Given the description of an element on the screen output the (x, y) to click on. 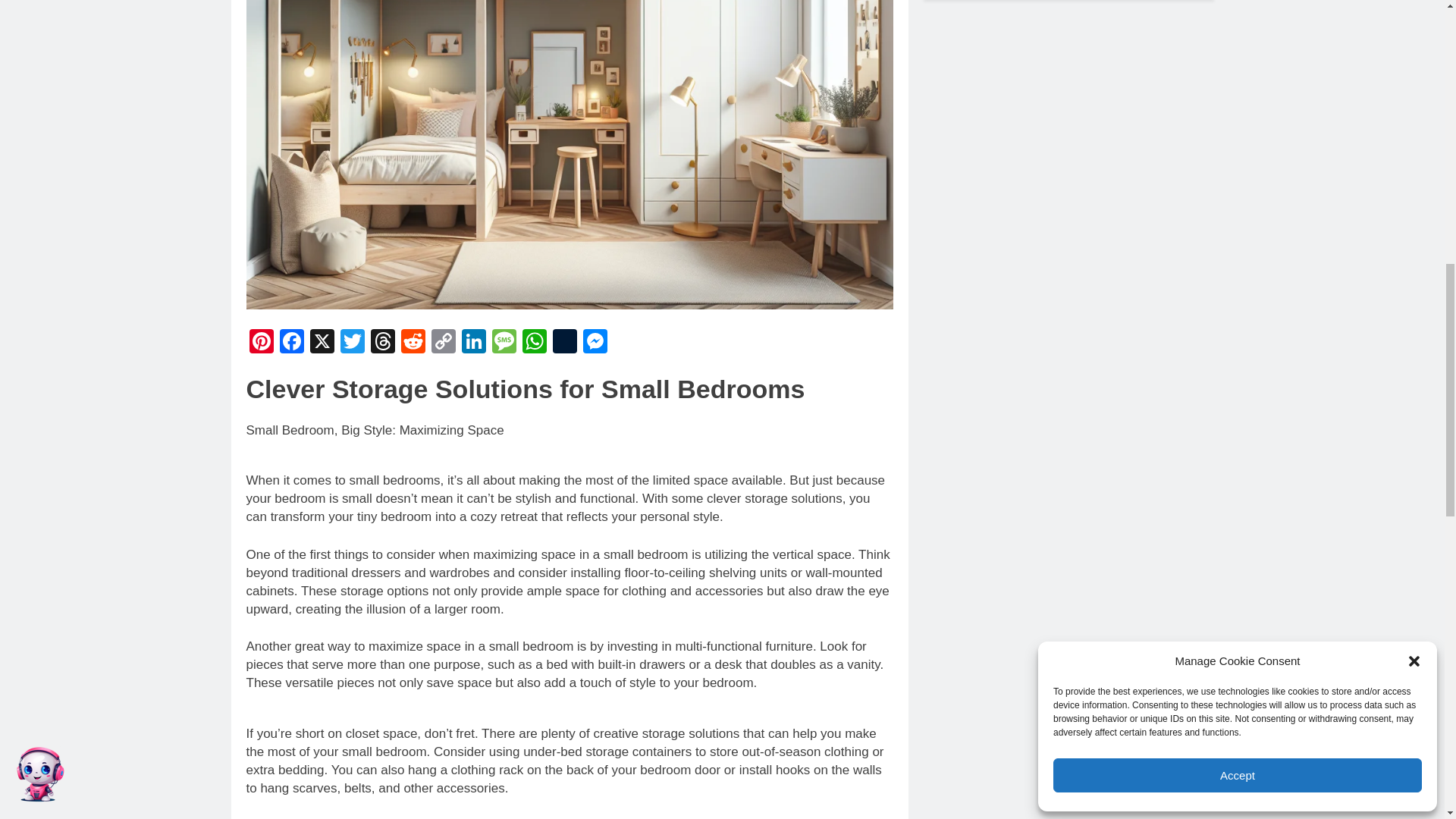
Messenger (594, 343)
Twitter (351, 343)
Threads (381, 343)
Facebook (290, 343)
Tumblr (563, 343)
Reddit (412, 343)
Message (502, 343)
Copy Link (443, 343)
Pinterest (261, 343)
LinkedIn (472, 343)
WhatsApp (533, 343)
X (320, 343)
